Given the description of an element on the screen output the (x, y) to click on. 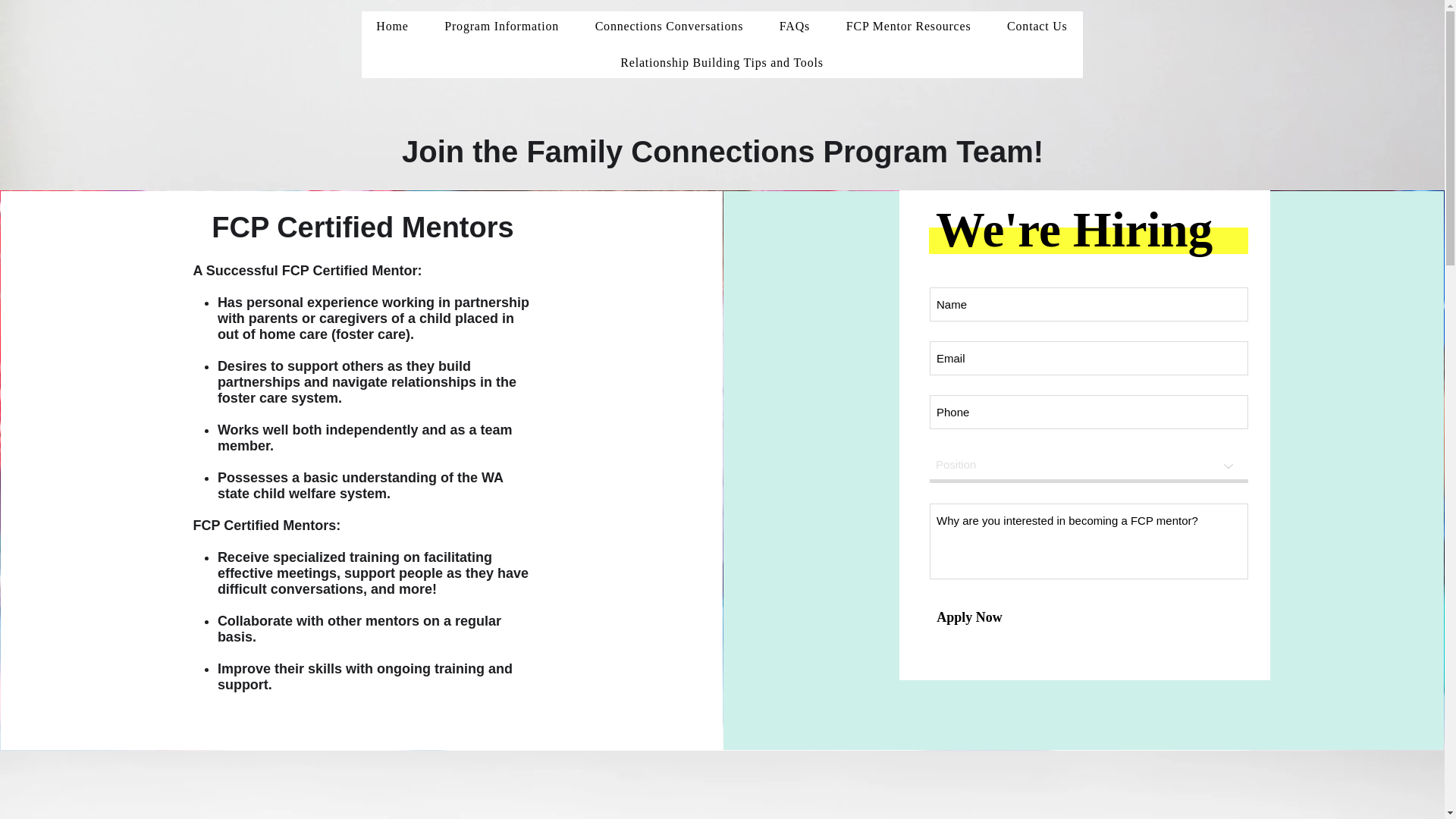
FAQs (794, 26)
Apply Now (969, 617)
Program Information (501, 26)
Relationship Building Tips and Tools (721, 62)
FCP Mentor Resources (908, 26)
Contact Us (1036, 26)
Home (392, 26)
Connections Conversations (668, 26)
